Given the description of an element on the screen output the (x, y) to click on. 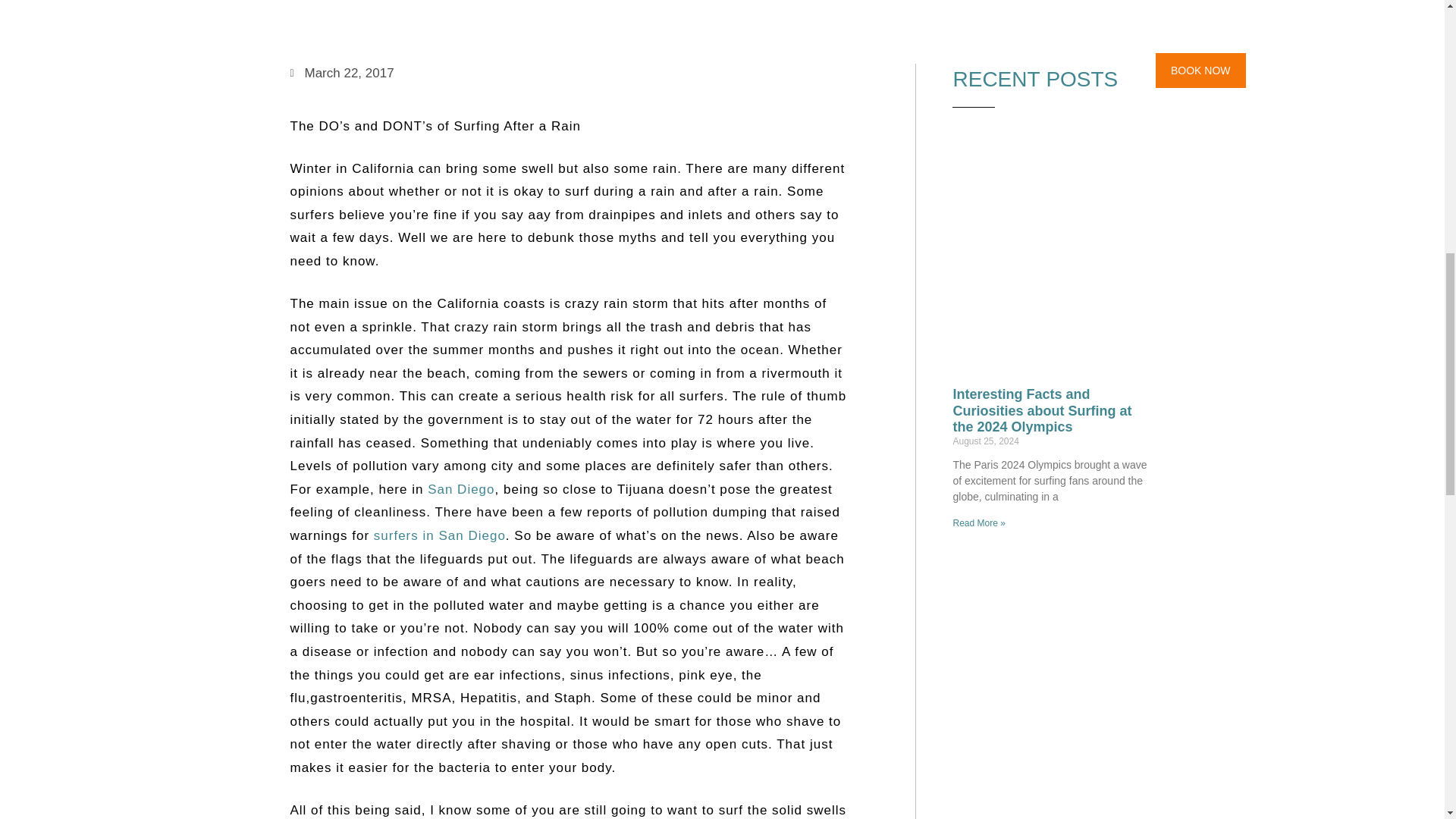
San Diego (461, 489)
surfers in San Diego (439, 535)
The History of Surfing in California: A Journey through Time (1048, 817)
